Given the description of an element on the screen output the (x, y) to click on. 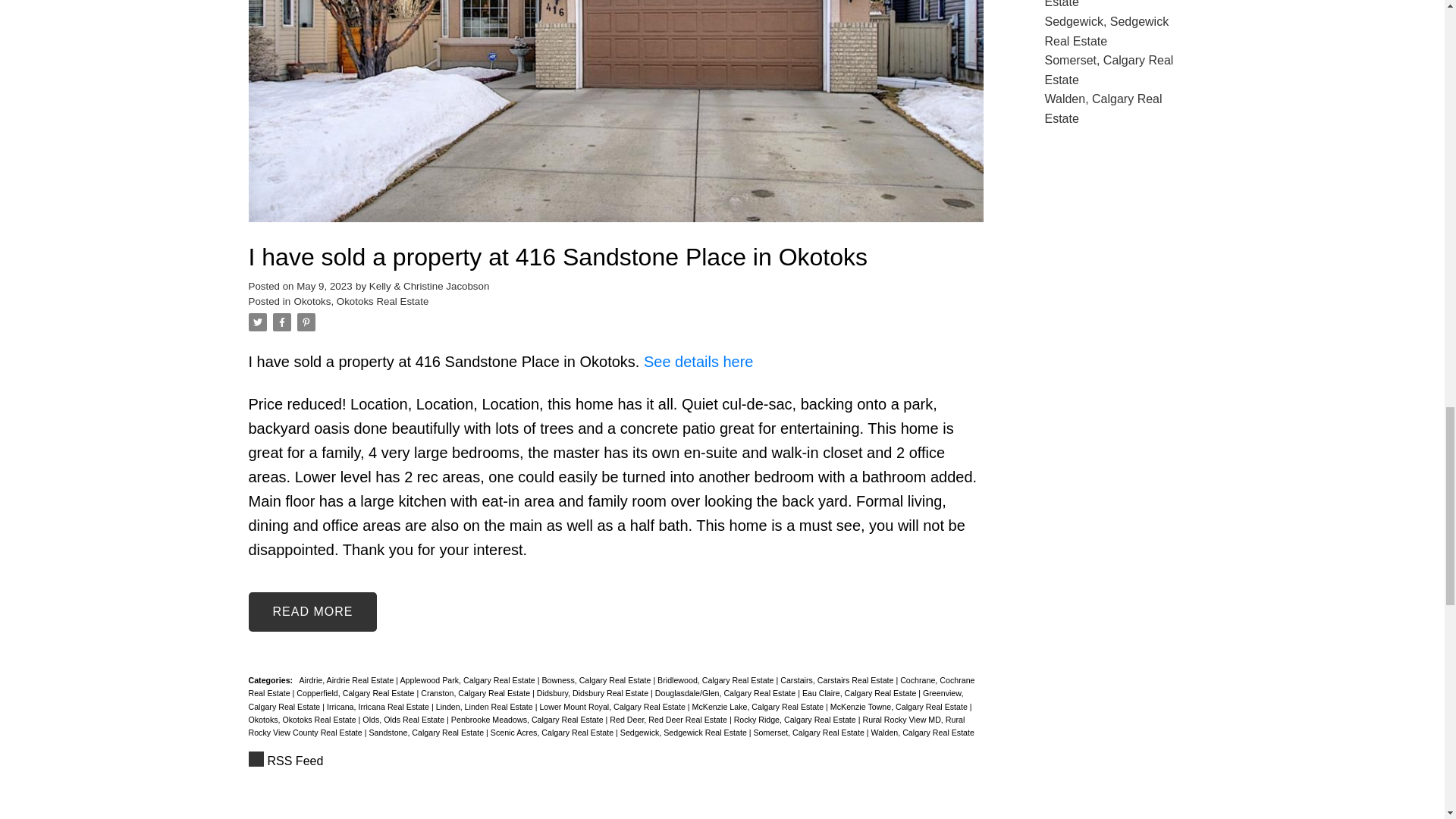
RSS (616, 761)
Okotoks, Okotoks Real Estate (361, 301)
Applewood Park, Calgary Real Estate (468, 679)
See details here (698, 361)
I have sold a property at 416 Sandstone Place in Okotoks (616, 257)
Airdrie, Airdrie Real Estate (347, 679)
READ (312, 611)
